Given the description of an element on the screen output the (x, y) to click on. 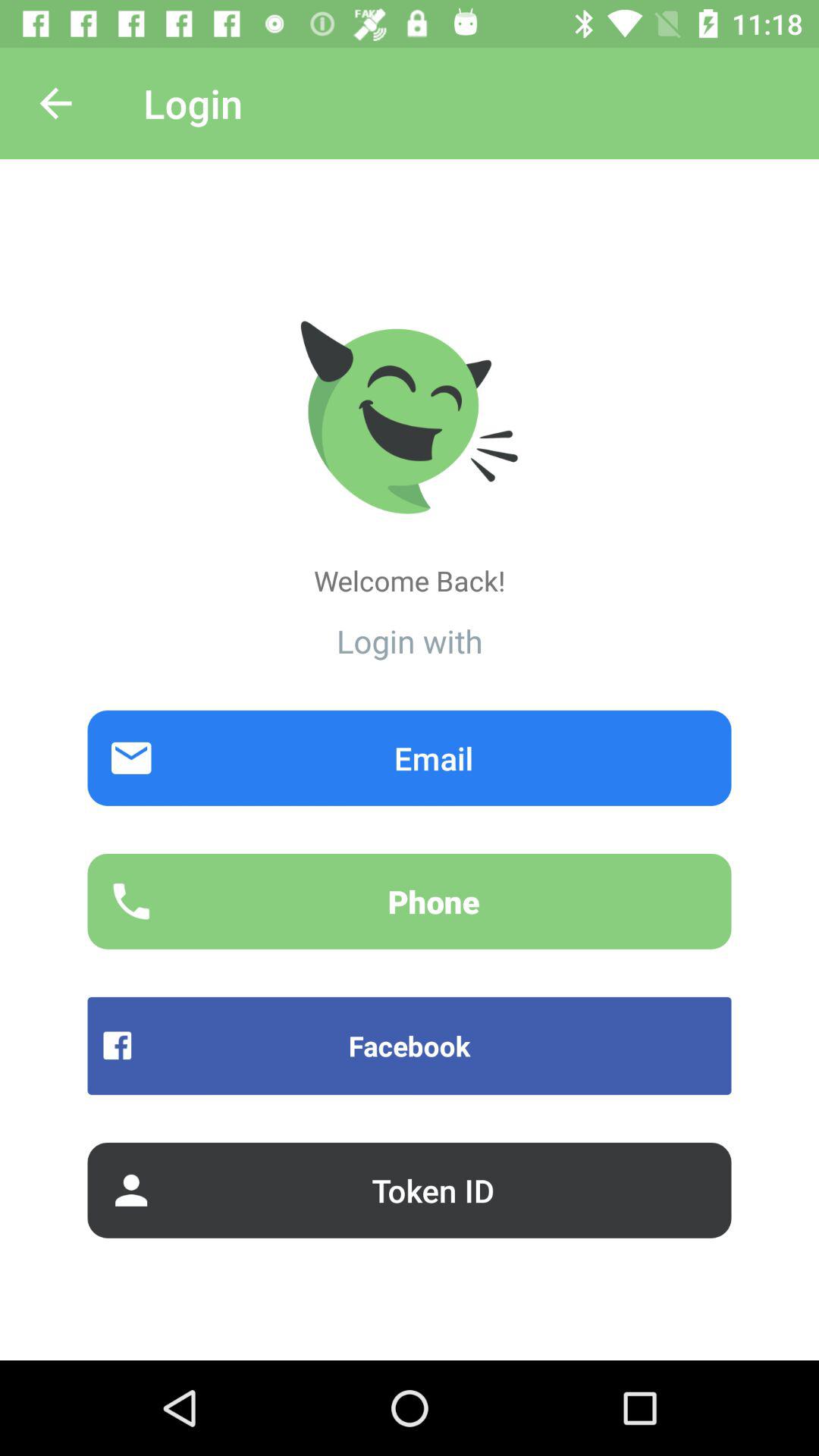
jump to phone icon (409, 901)
